Given the description of an element on the screen output the (x, y) to click on. 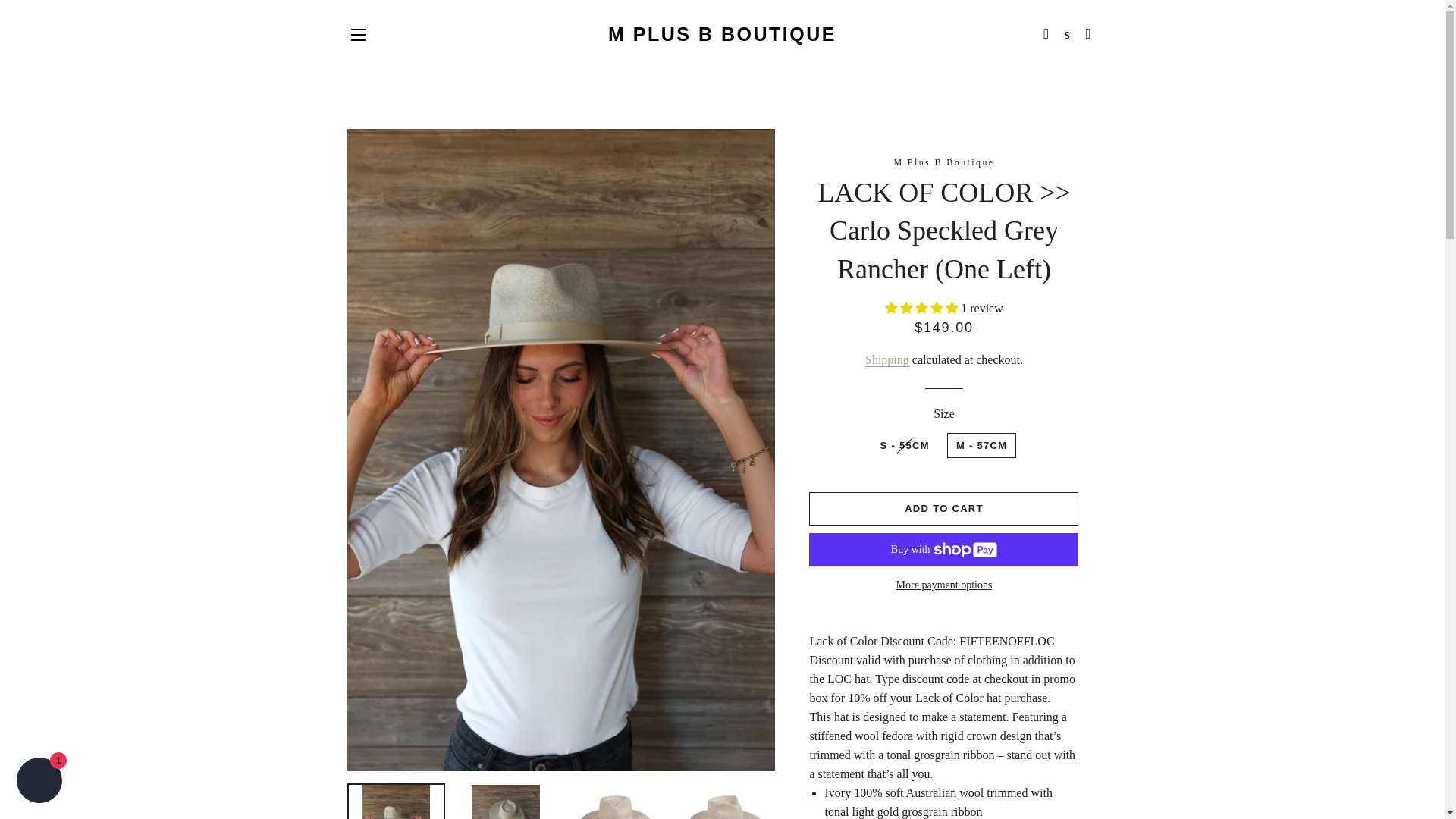
Shopify online store chat (38, 781)
M PLUS B BOUTIQUE (721, 34)
SITE NAVIGATION (358, 34)
